Given the description of an element on the screen output the (x, y) to click on. 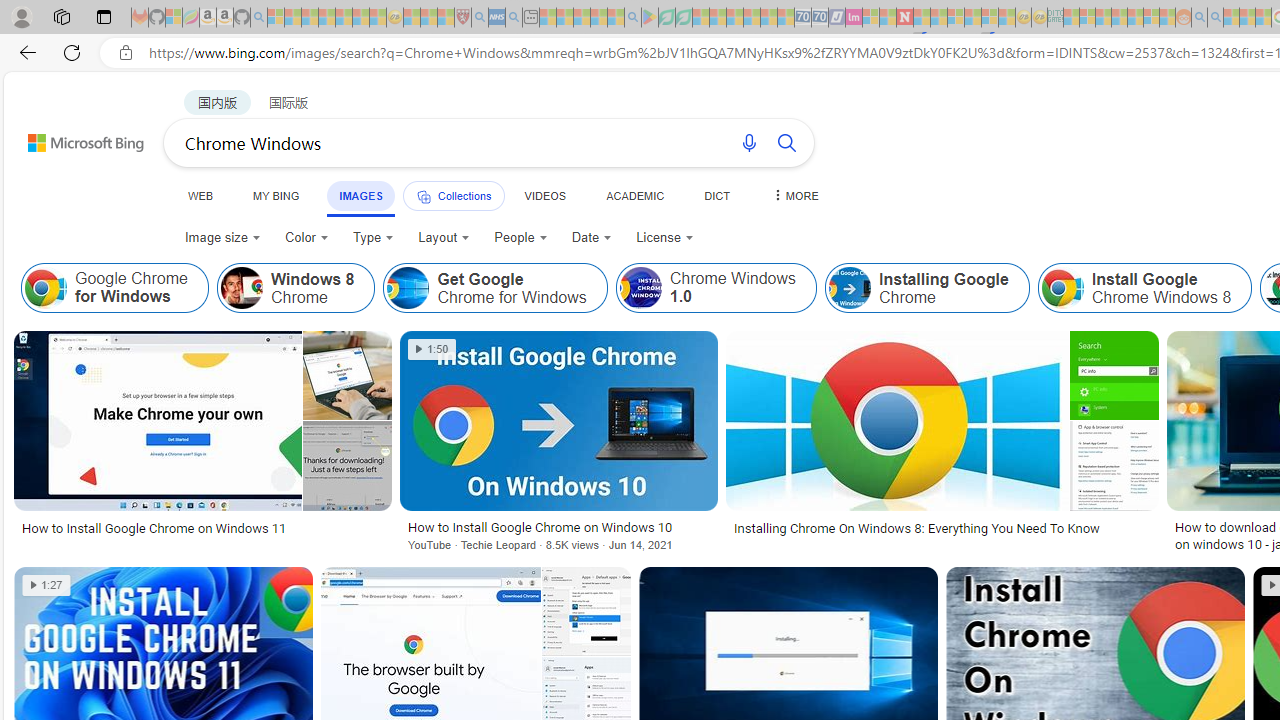
IMAGES (360, 195)
Image size (221, 237)
New Report Confirms 2023 Was Record Hot | Watch - Sleeping (343, 17)
ACADEMIC (635, 195)
Chrome Windows 1.0 (640, 287)
MY BING (276, 195)
Pets - MSN - Sleeping (598, 17)
Trusted Community Engagement and Contributions | Guidelines (921, 17)
Dropdown Menu (793, 195)
IMAGES (360, 196)
Google Chrome for Windows (45, 287)
